Given the description of an element on the screen output the (x, y) to click on. 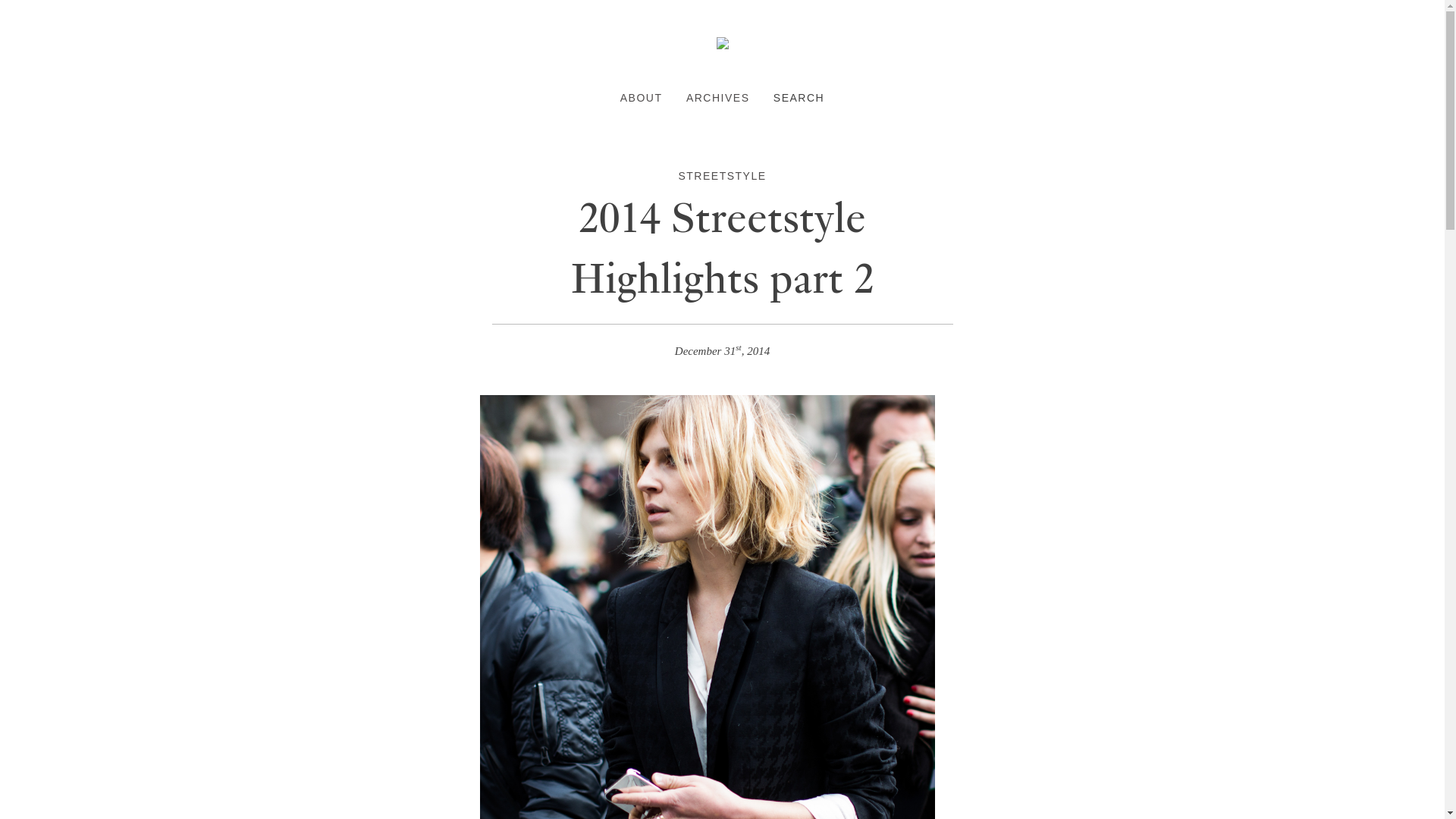
SEARCH (798, 97)
ARCHIVES (717, 97)
ABOUT (641, 97)
STREETSTYLE (721, 175)
